Given the description of an element on the screen output the (x, y) to click on. 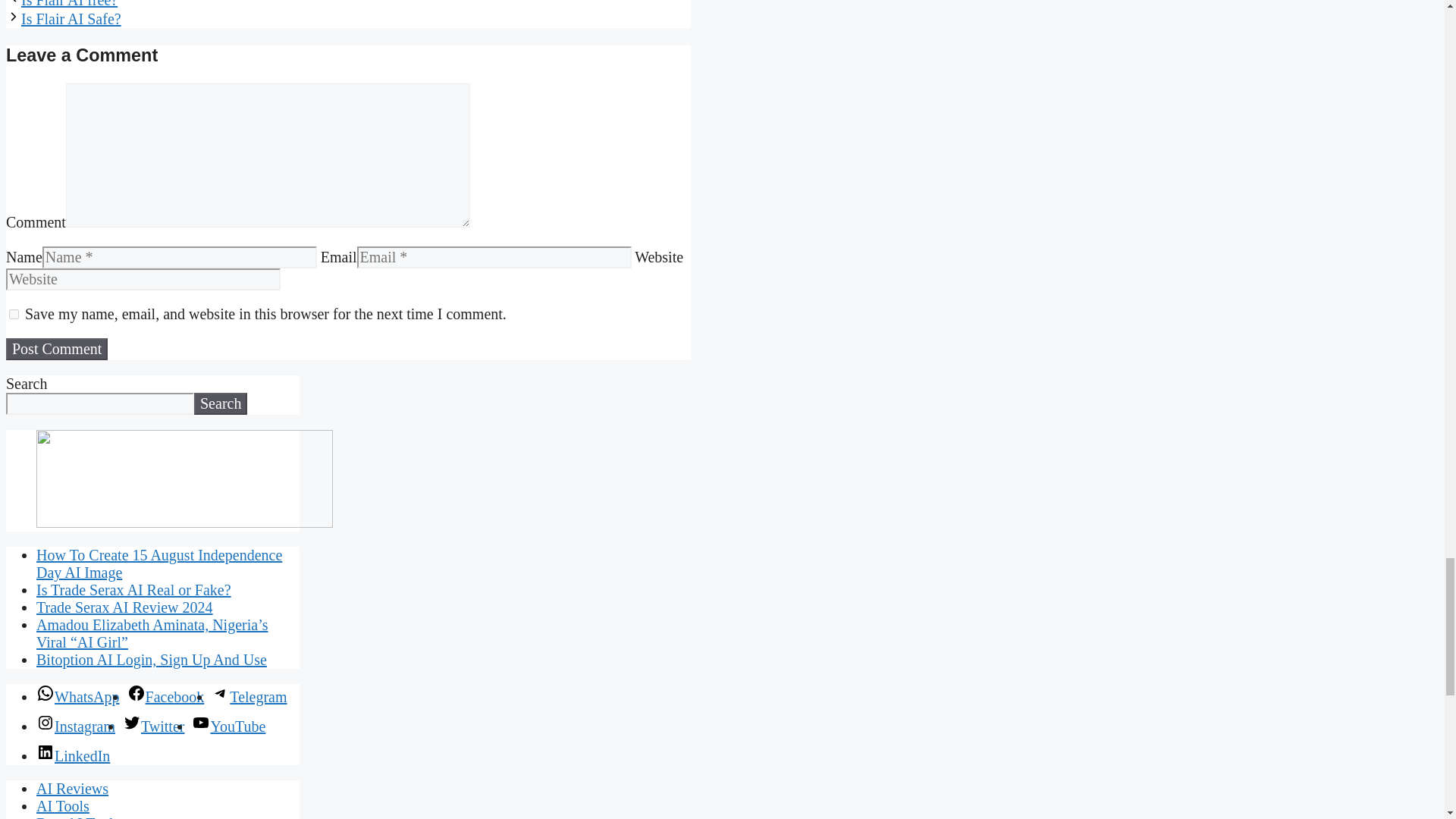
Trade Serax AI Review 2024 (124, 606)
Post Comment (56, 349)
How To Create 15 August Independence Day AI Image (159, 563)
Search (220, 403)
YouTube (228, 726)
Instagram (75, 726)
WhatsApp (77, 696)
Bitoption AI Login, Sign Up And Use (151, 659)
Post Comment (56, 349)
Is Trade Serax AI Real or Fake? (133, 589)
